Given the description of an element on the screen output the (x, y) to click on. 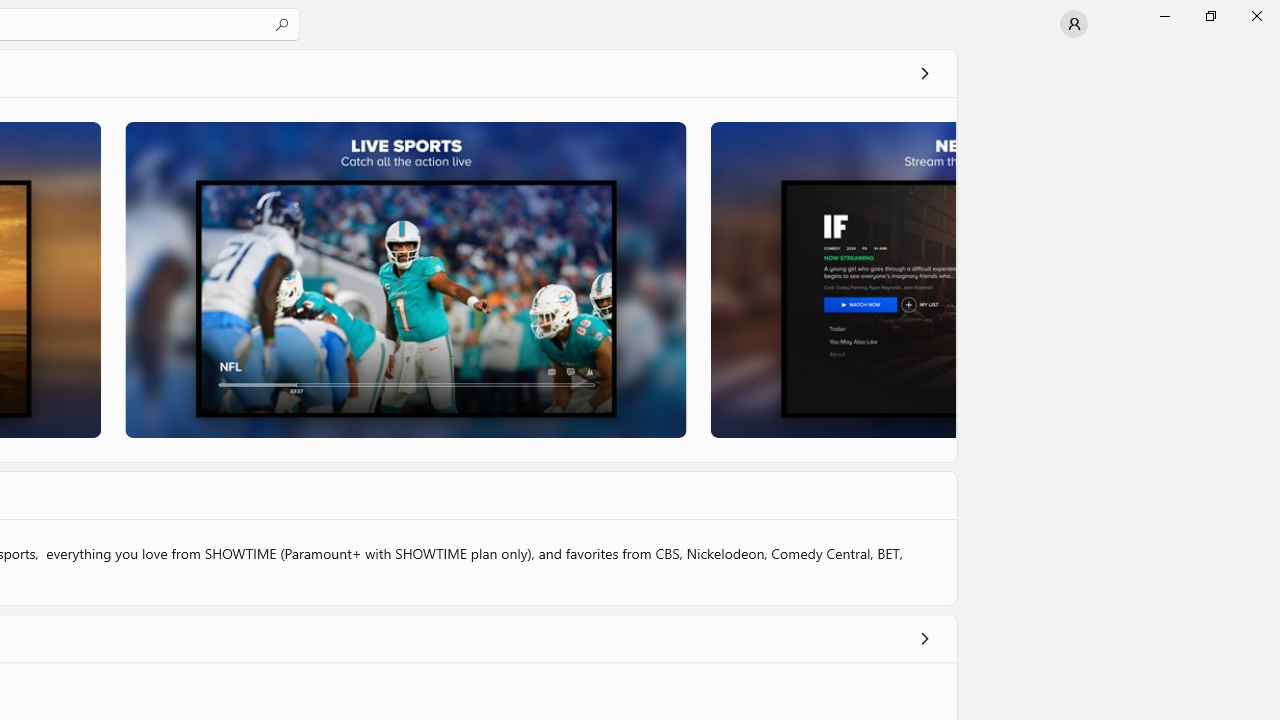
Restore Microsoft Store (1210, 15)
User profile (1073, 24)
Show all ratings and reviews (924, 637)
Minimize Microsoft Store (1164, 15)
See all (924, 72)
Screenshot 3 (832, 279)
Screenshot 2 (405, 279)
Close Microsoft Store (1256, 15)
